Given the description of an element on the screen output the (x, y) to click on. 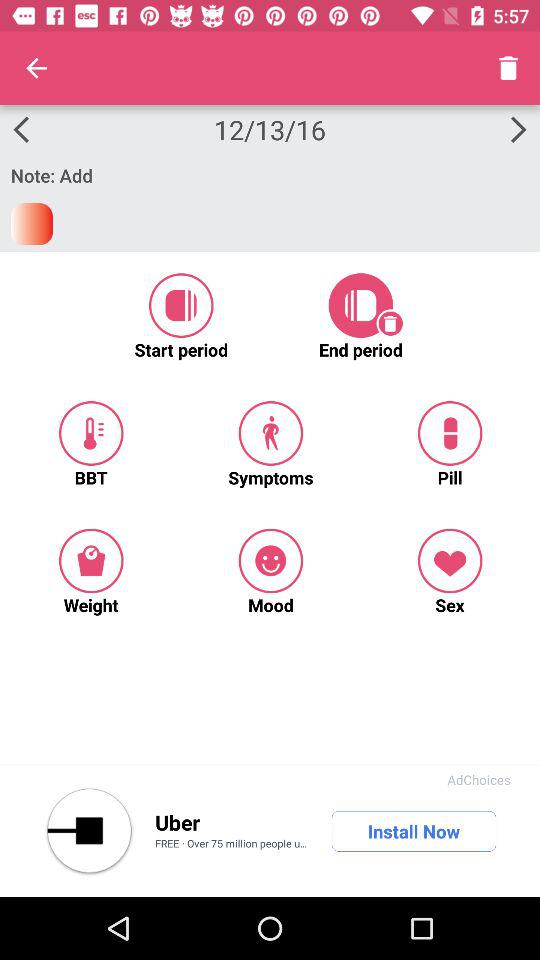
select item to the left of the 12/13/16 item (36, 68)
